Given the description of an element on the screen output the (x, y) to click on. 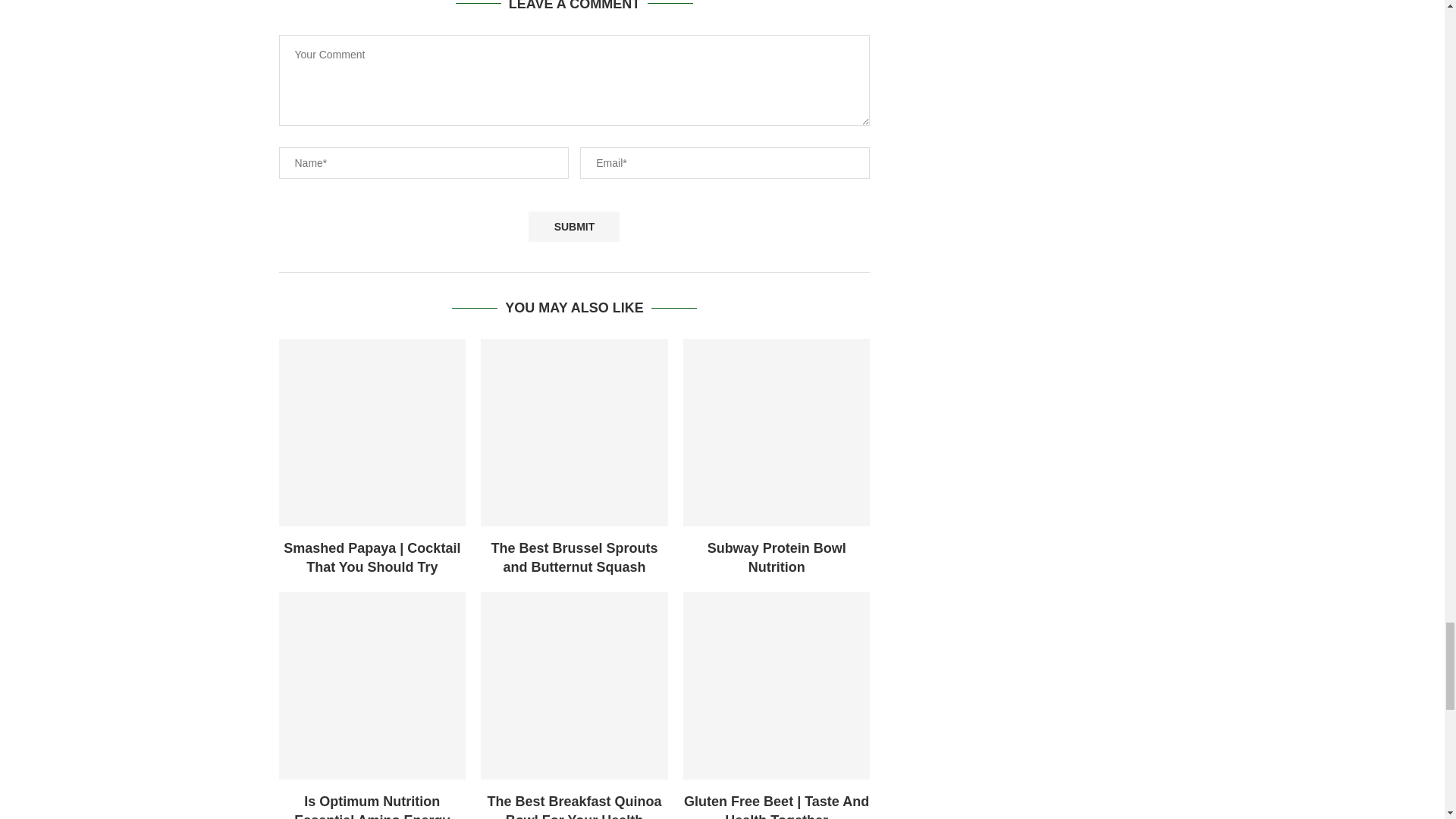
Submit (574, 226)
